Given the description of an element on the screen output the (x, y) to click on. 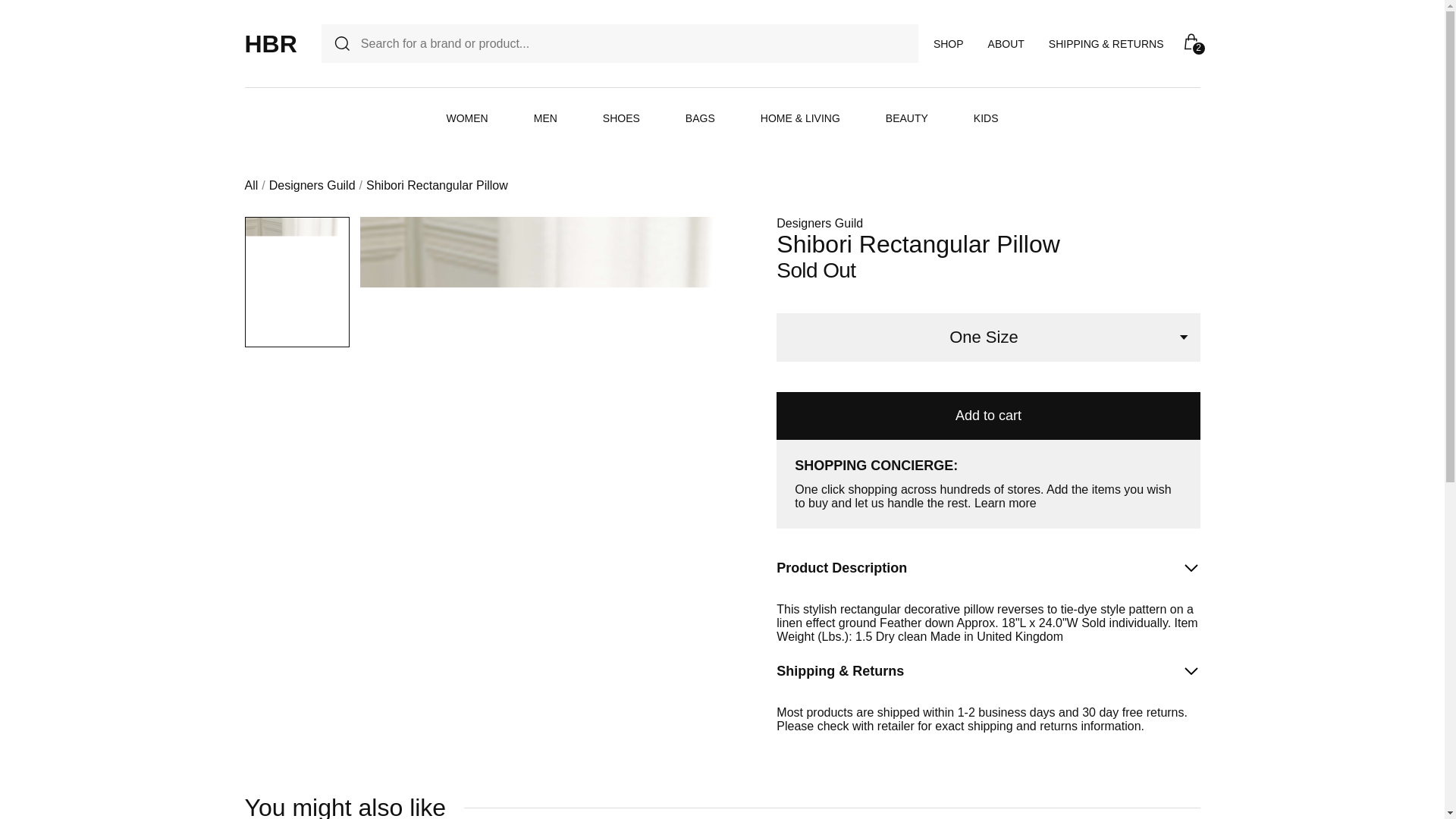
BEAUTY (906, 118)
HBR (270, 43)
Designers Guild (819, 223)
SHOES (621, 118)
WOMEN (466, 118)
Add to cart (987, 415)
ABOUT (1006, 43)
MEN (545, 118)
KIDS (986, 118)
Designers Guild (312, 185)
